Given the description of an element on the screen output the (x, y) to click on. 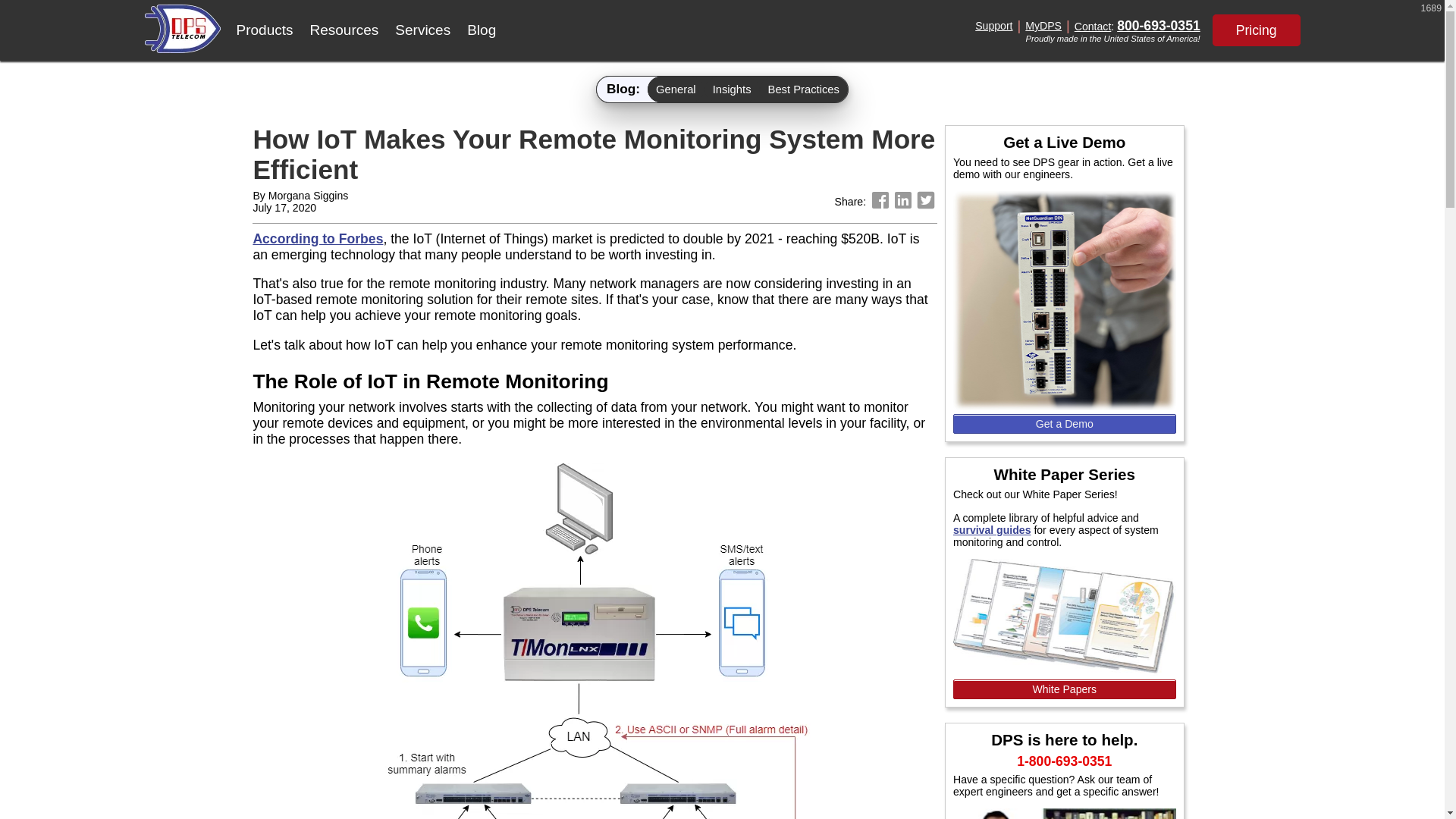
Best Practices (803, 89)
Resources (344, 30)
Support (993, 25)
Insights (732, 89)
Get a Demo (1064, 424)
Products (264, 30)
MyDPS (1043, 25)
800-693-0351 (1157, 25)
Services (422, 30)
Contact (1093, 25)
Blog (480, 30)
Pricing (1256, 29)
General (675, 89)
survival guides (991, 529)
According to Forbes (316, 238)
